Given the description of an element on the screen output the (x, y) to click on. 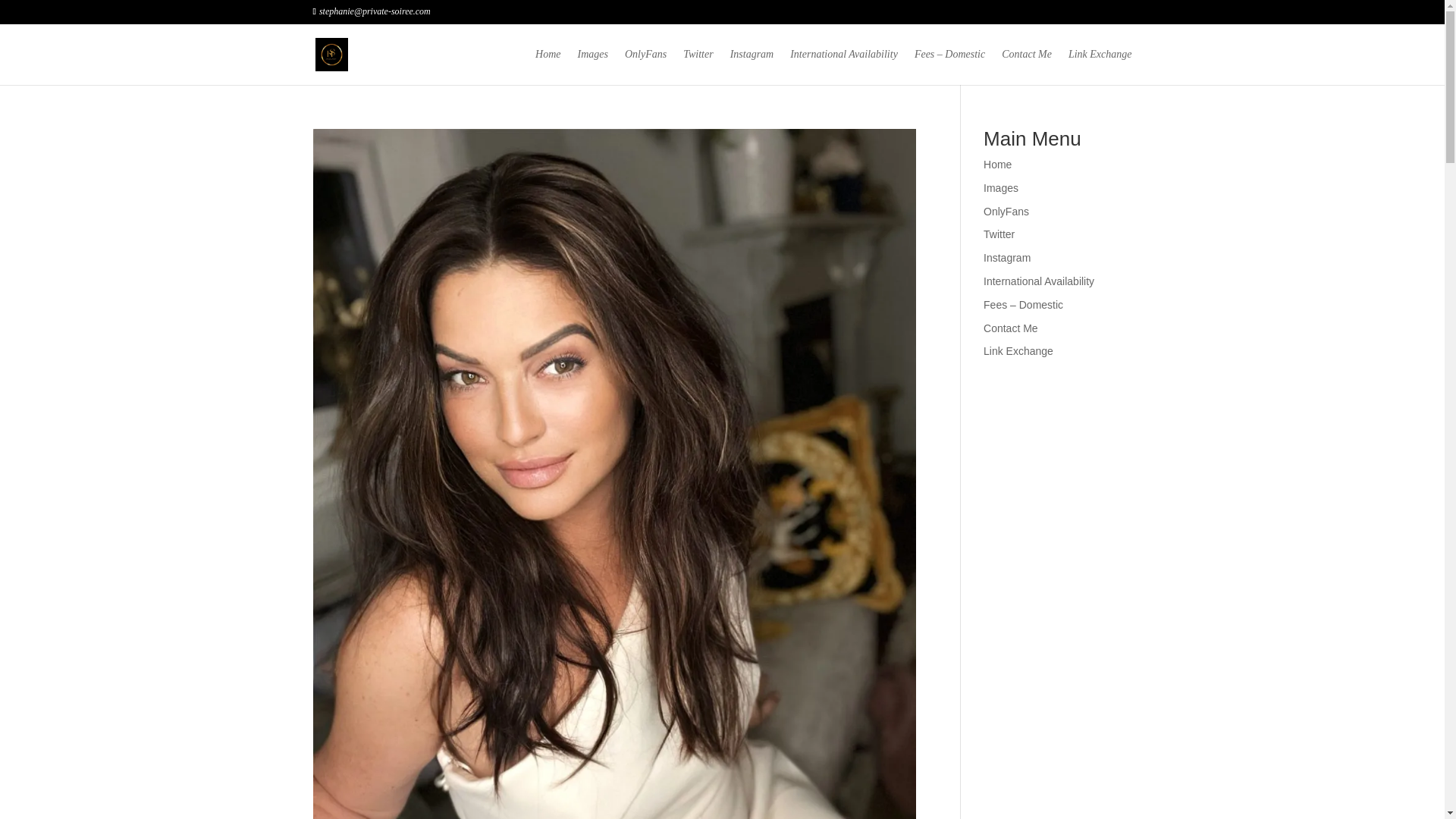
Instagram (752, 67)
OnlyFans (645, 67)
Contact Me (1026, 67)
Link Exchange (1100, 67)
International Availability (844, 67)
